Given the description of an element on the screen output the (x, y) to click on. 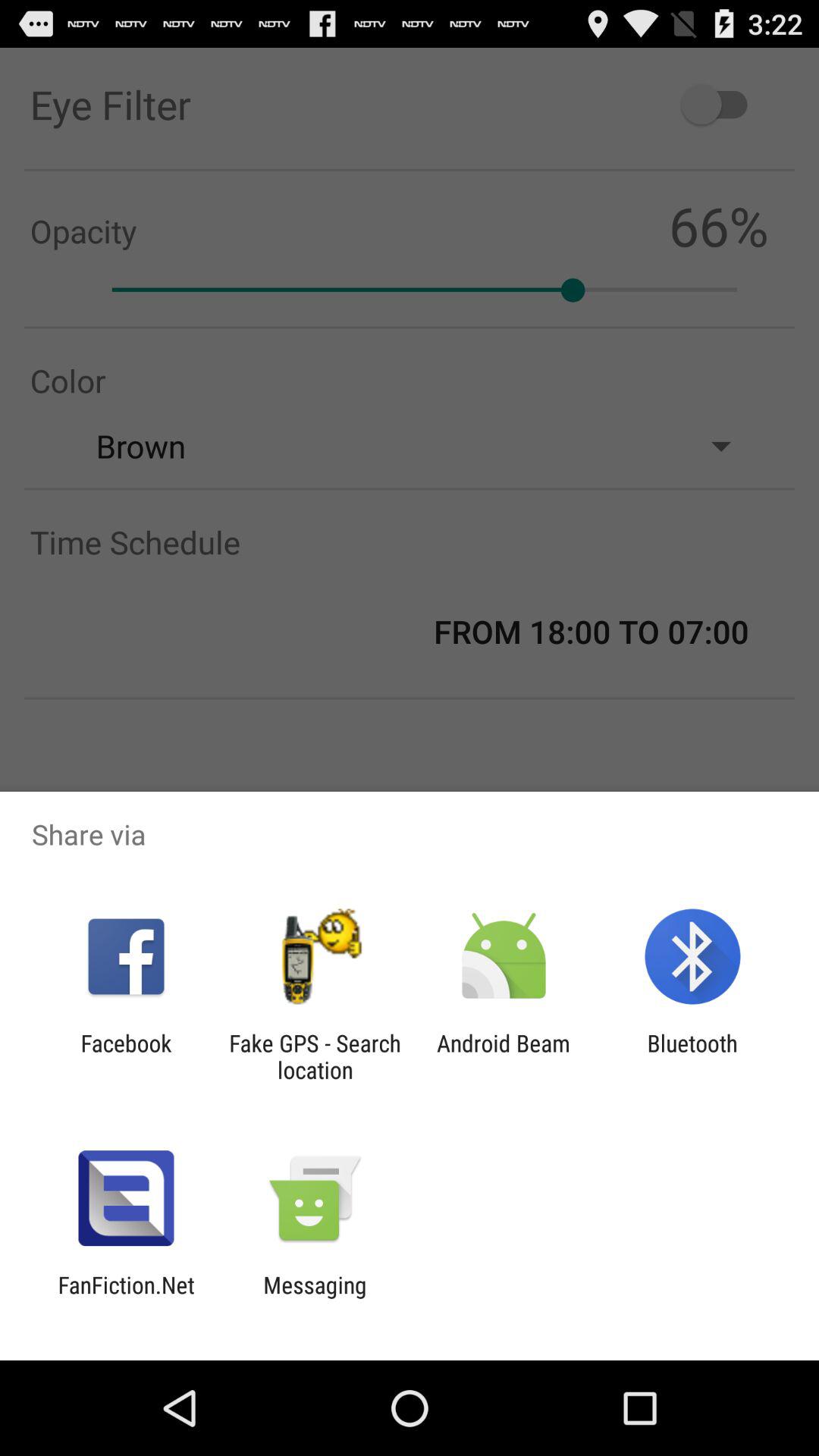
tap the facebook (125, 1056)
